Given the description of an element on the screen output the (x, y) to click on. 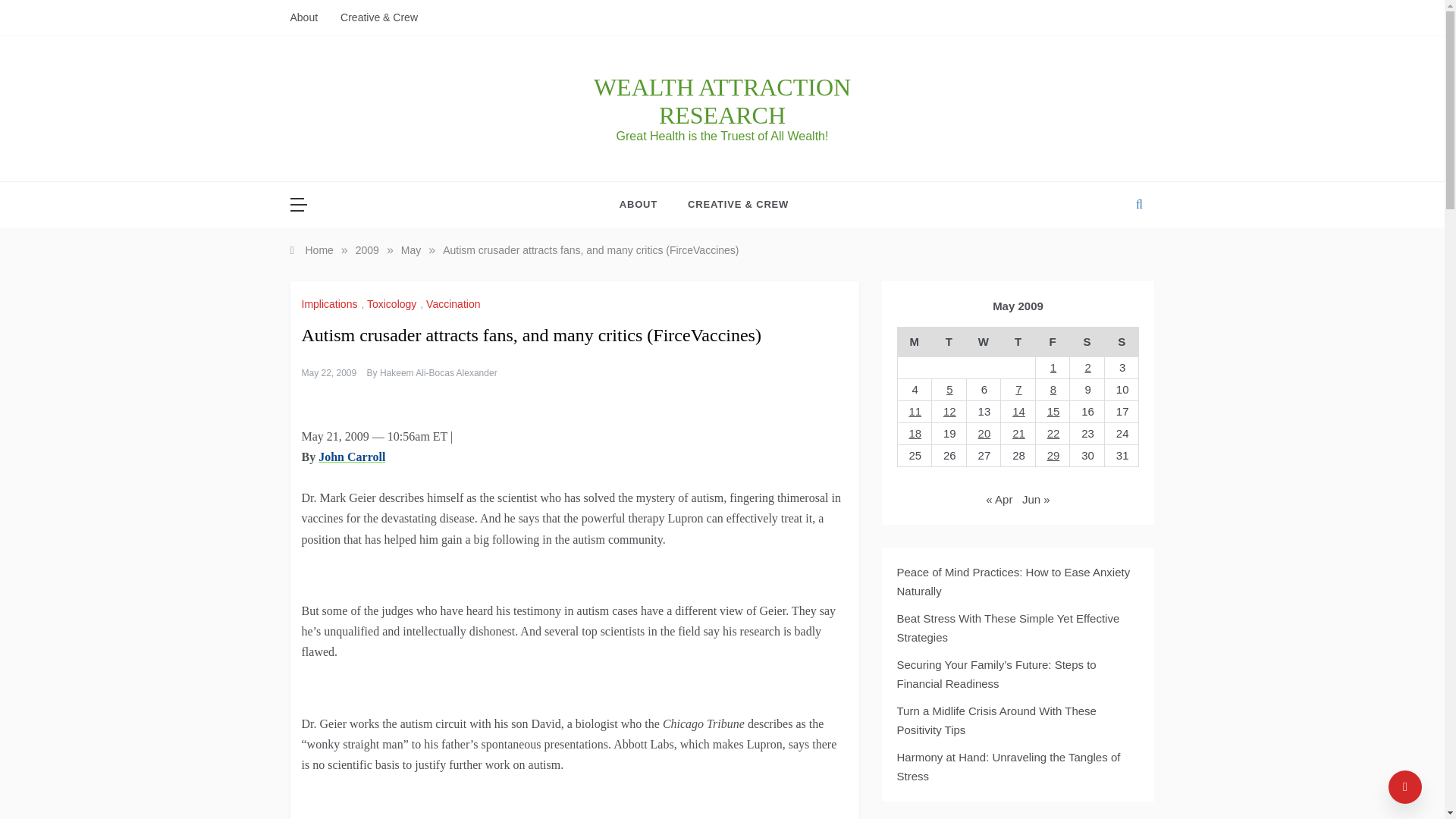
Saturday (1087, 342)
ABOUT (646, 204)
Sunday (1120, 342)
Hakeem Ali-Bocas Alexander (438, 372)
Vaccination (454, 304)
About (309, 17)
2009 (366, 250)
Monday (913, 342)
Wednesday (983, 342)
Tuesday (948, 342)
